Given the description of an element on the screen output the (x, y) to click on. 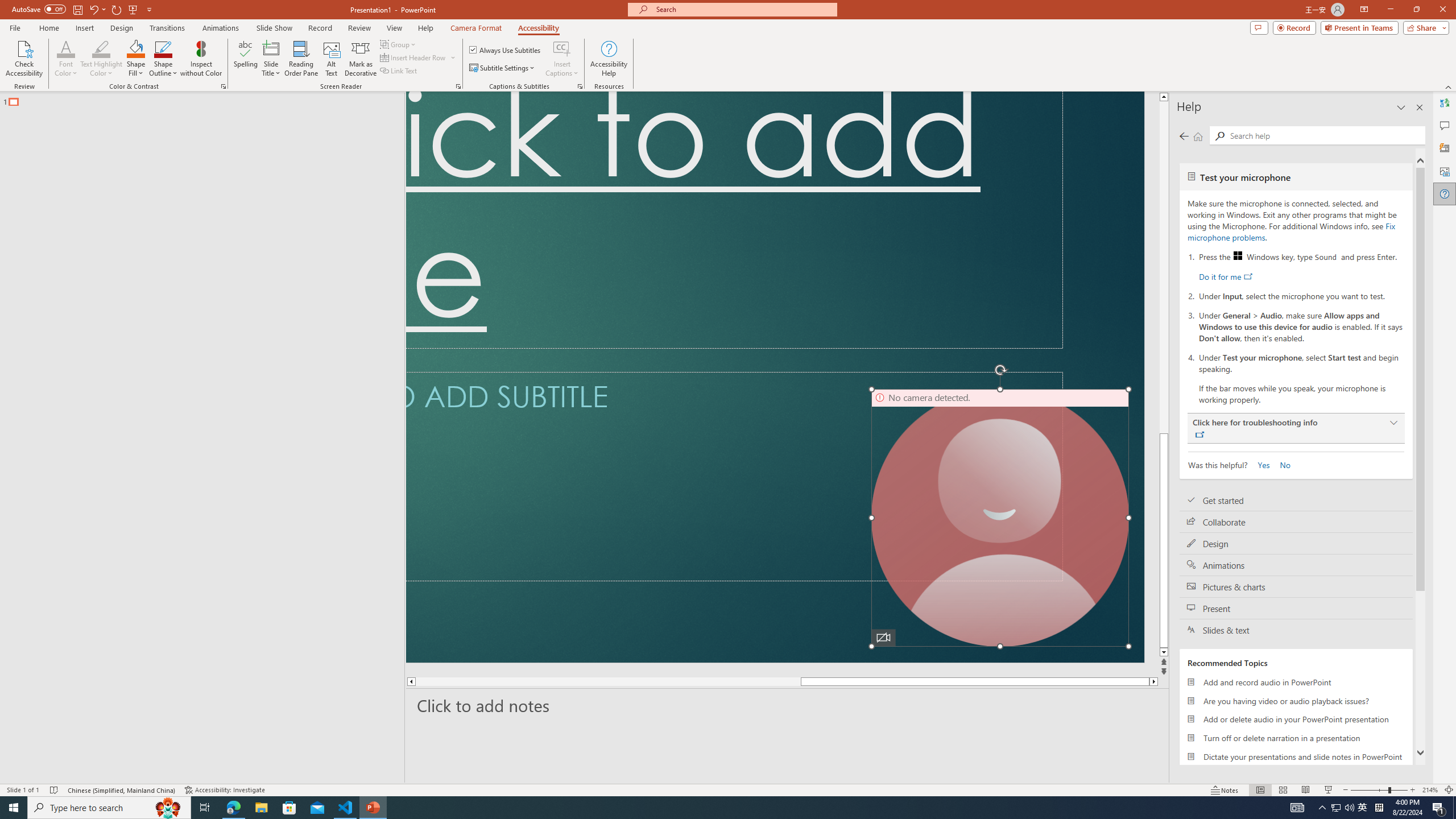
Under Input, select the microphone you want to test. (1301, 295)
Always Use Subtitles (505, 49)
Accessibility Help (608, 58)
